Given the description of an element on the screen output the (x, y) to click on. 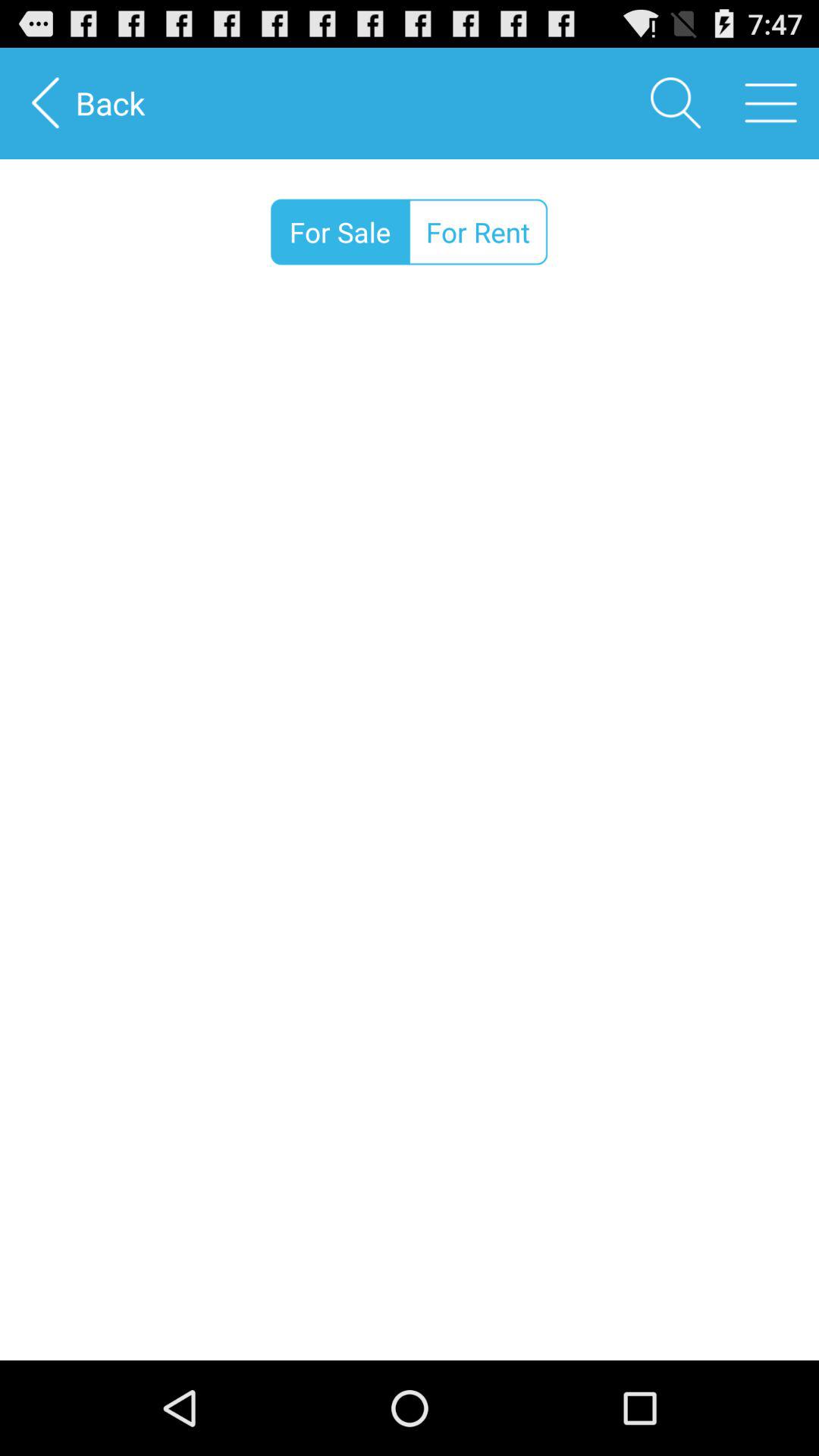
tap icon to the right of for sale (477, 232)
